Given the description of an element on the screen output the (x, y) to click on. 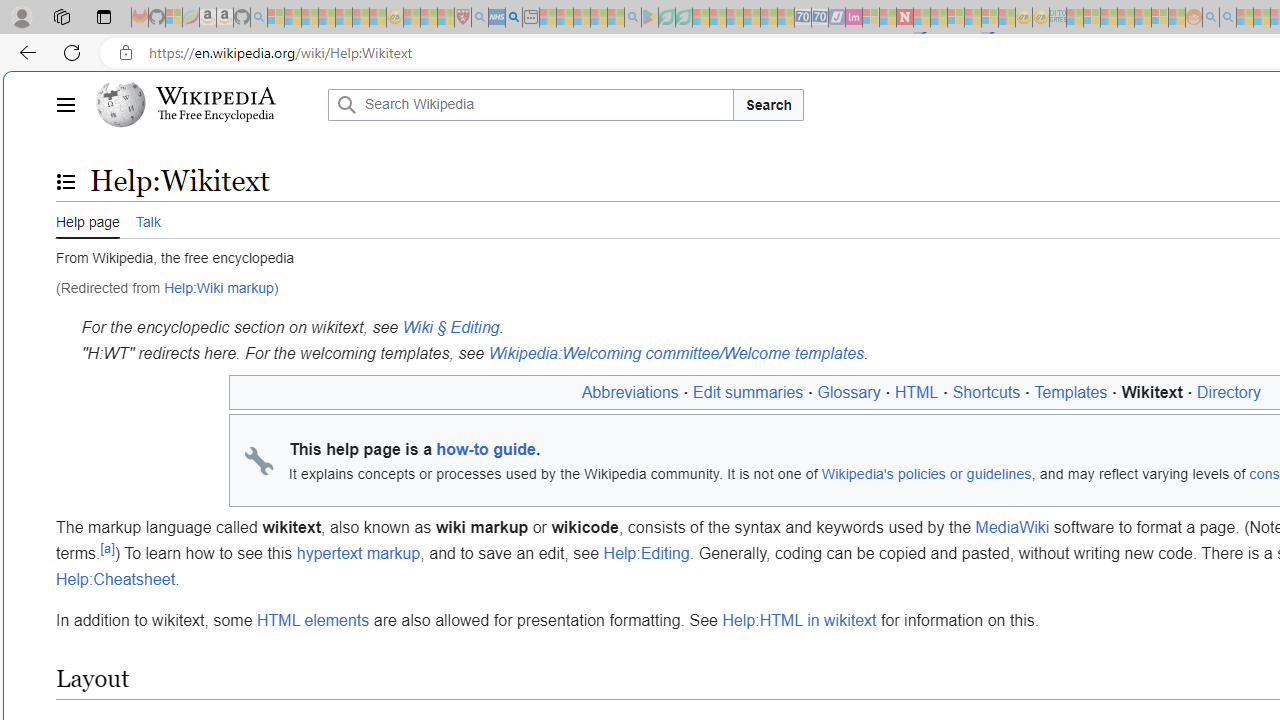
Main menu (65, 104)
Directory (1229, 392)
Help:Editing (645, 554)
Wikipedia's policies or guidelines (925, 473)
Search Wikipedia (530, 104)
